Given the description of an element on the screen output the (x, y) to click on. 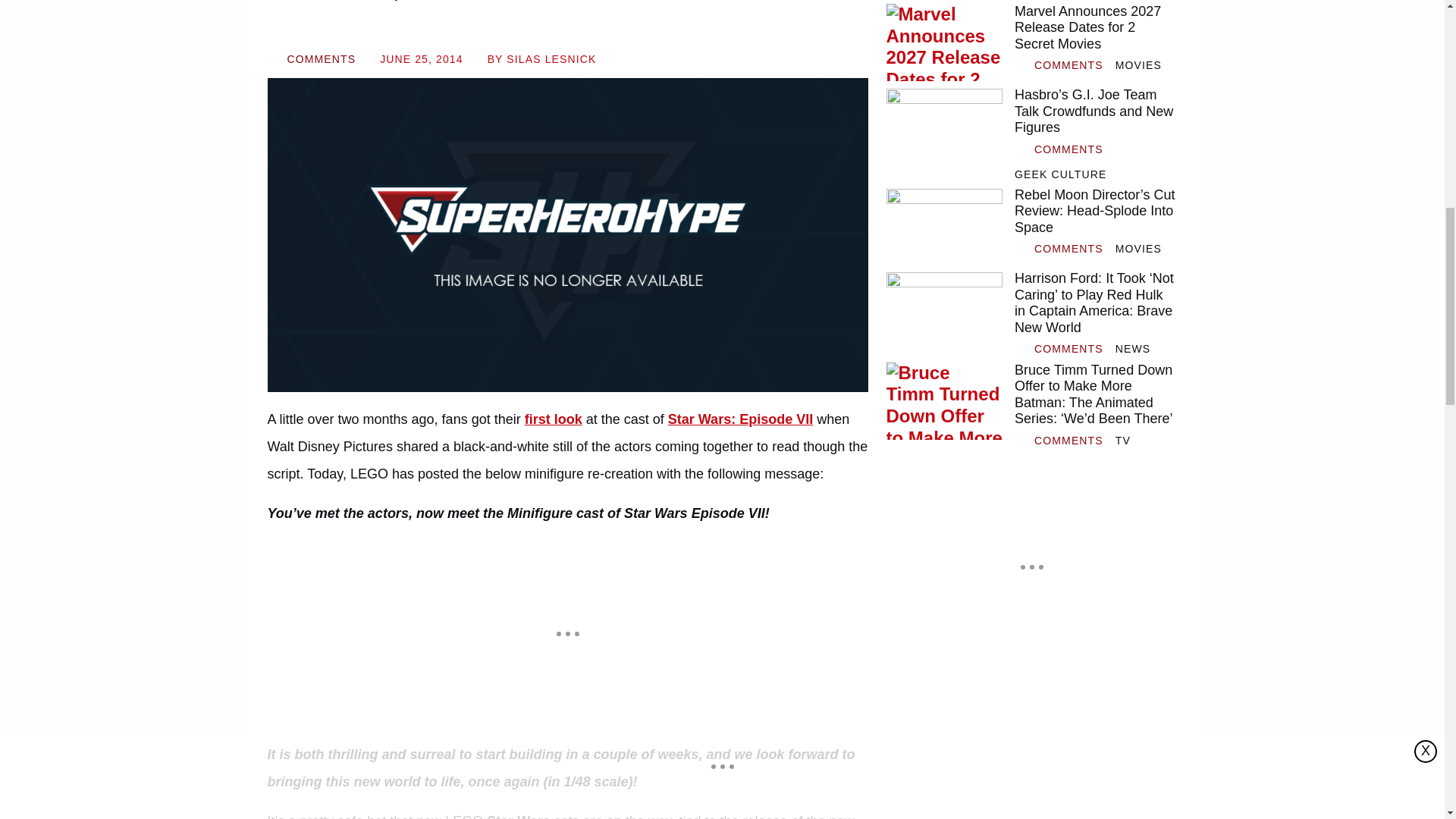
SILAS LESNICK (550, 59)
GEEK CULTURE (1060, 174)
Marvel Announces 2027 Release Dates for 2 Secret Movies (944, 42)
first look (553, 418)
Marvel Announces 2027 Release Dates for 2 Secret Movies (1095, 28)
MOVIES (1138, 65)
Marvel Announces 2027 Release Dates for 2 Secret Movies (1095, 28)
Star Wars: Episode VII (740, 418)
